Given the description of an element on the screen output the (x, y) to click on. 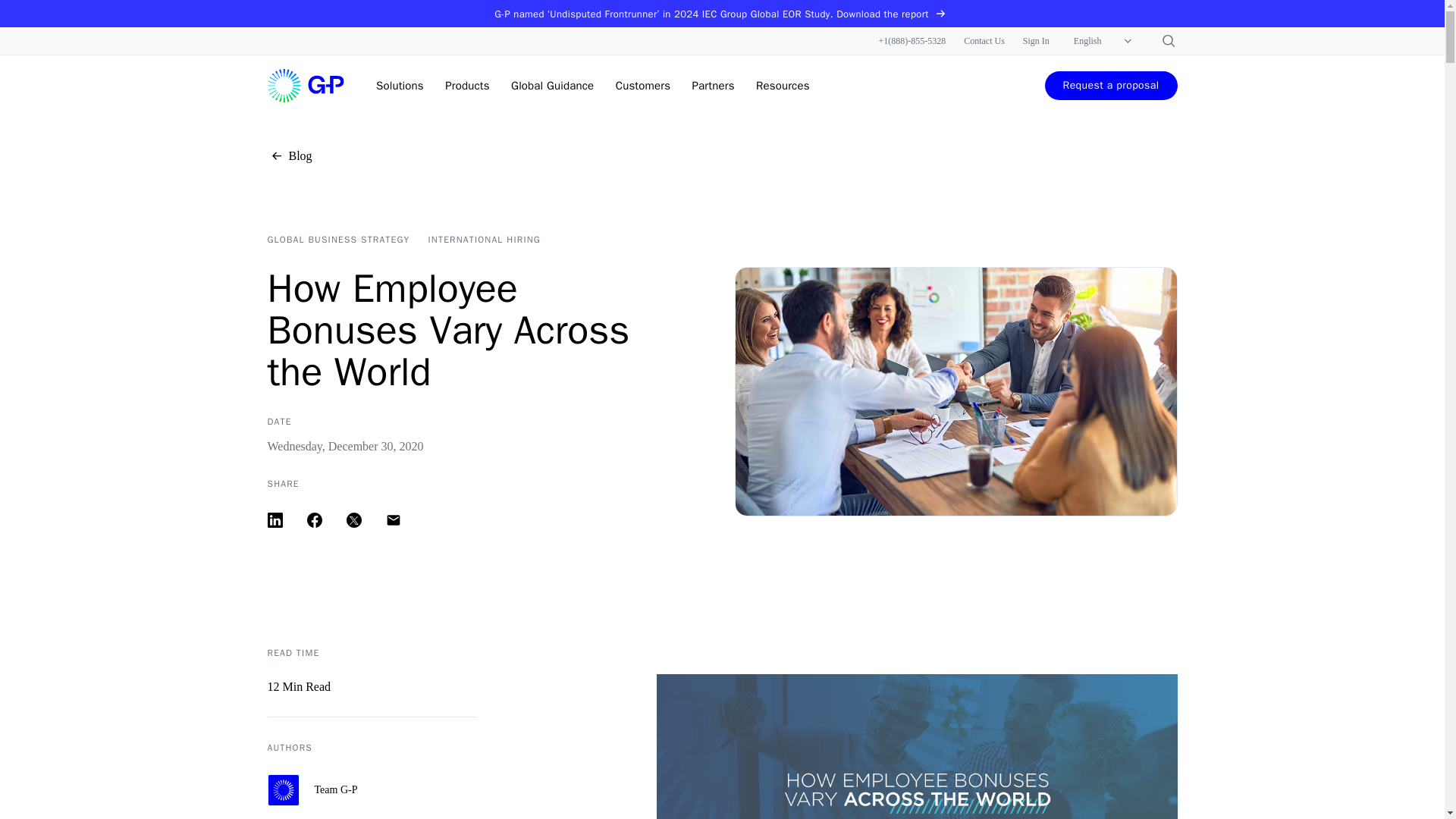
Sign In (1036, 40)
Blog (288, 156)
Solutions (399, 85)
Customers (642, 85)
Global Guidance (552, 85)
Request a proposal (1111, 85)
Contact Us (983, 40)
Partners (714, 85)
Resources (782, 85)
English (1104, 40)
Products (467, 85)
